Given the description of an element on the screen output the (x, y) to click on. 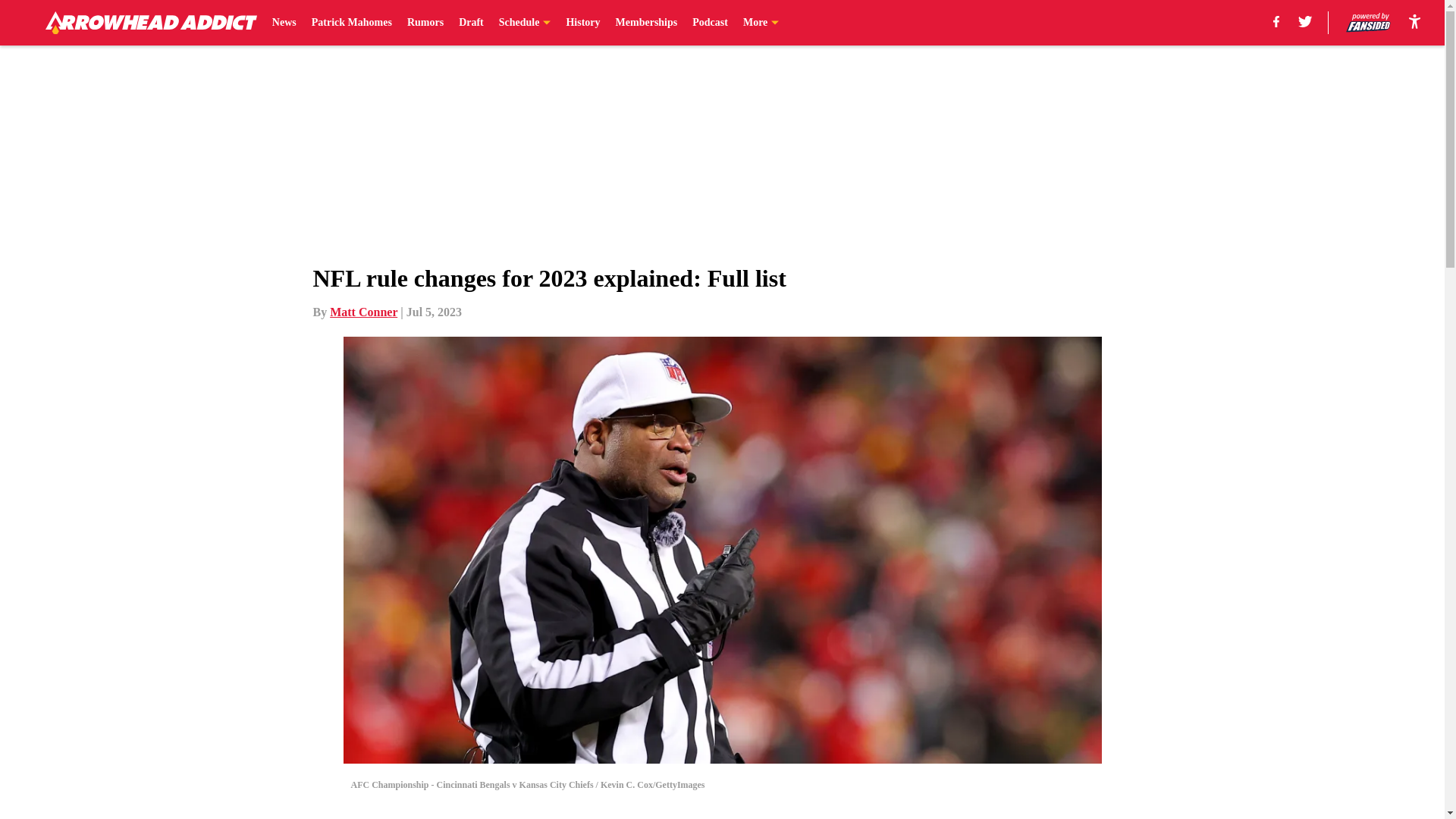
Matt Conner (363, 311)
News (284, 22)
History (582, 22)
Rumors (425, 22)
Patrick Mahomes (351, 22)
Memberships (646, 22)
Podcast (710, 22)
Draft (470, 22)
